Given the description of an element on the screen output the (x, y) to click on. 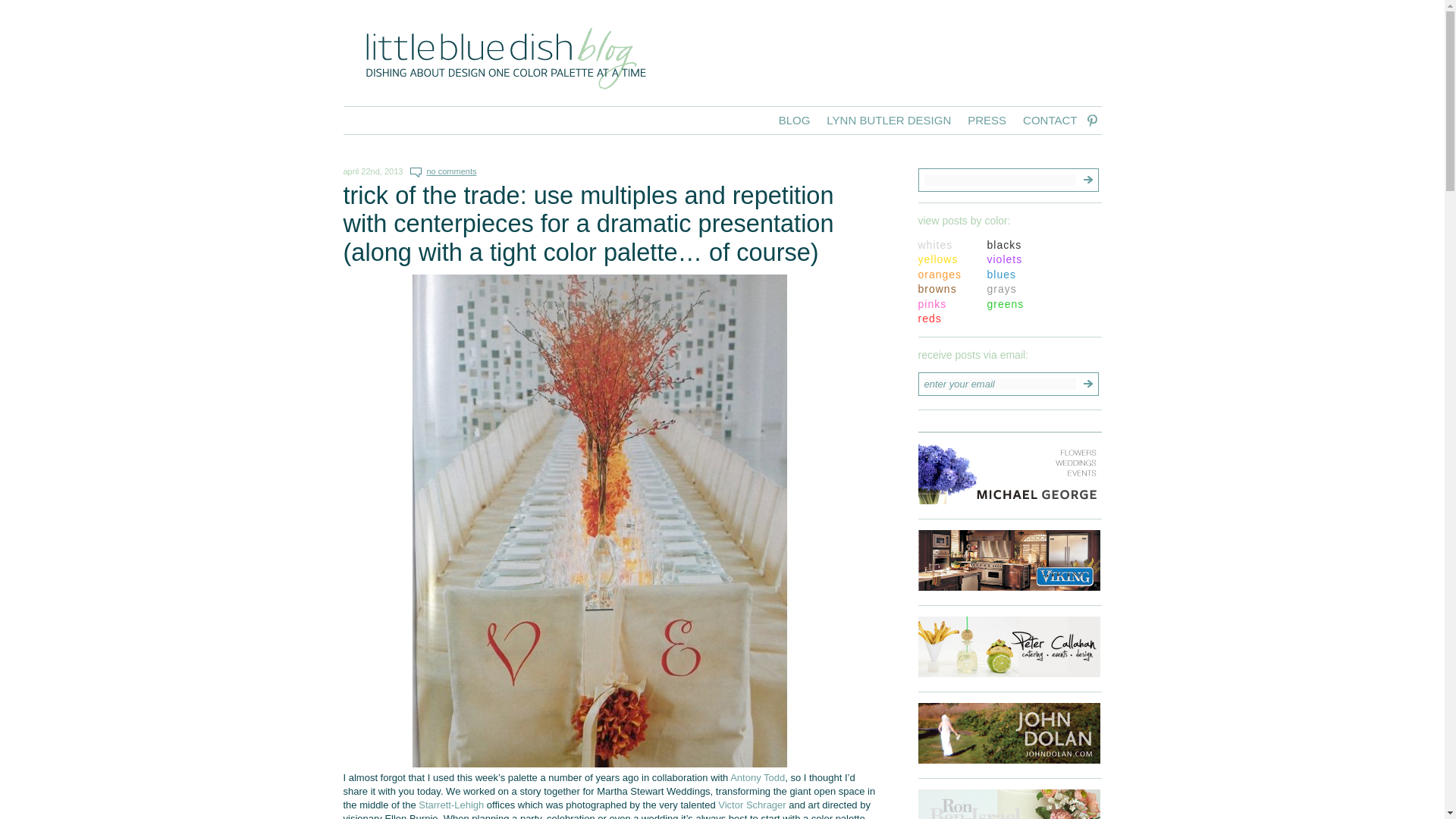
grays (1001, 288)
reds (928, 318)
CONTACT (1050, 118)
whites (934, 244)
pinks (931, 304)
PRESS (987, 118)
oranges (938, 274)
Victor Schrager (751, 804)
BLOG (794, 118)
blacks (1004, 244)
browns (936, 288)
violets (1005, 259)
LYNN BUTLER DESIGN (888, 118)
enter your email (999, 383)
Starrett-Lehigh (451, 804)
